Given the description of an element on the screen output the (x, y) to click on. 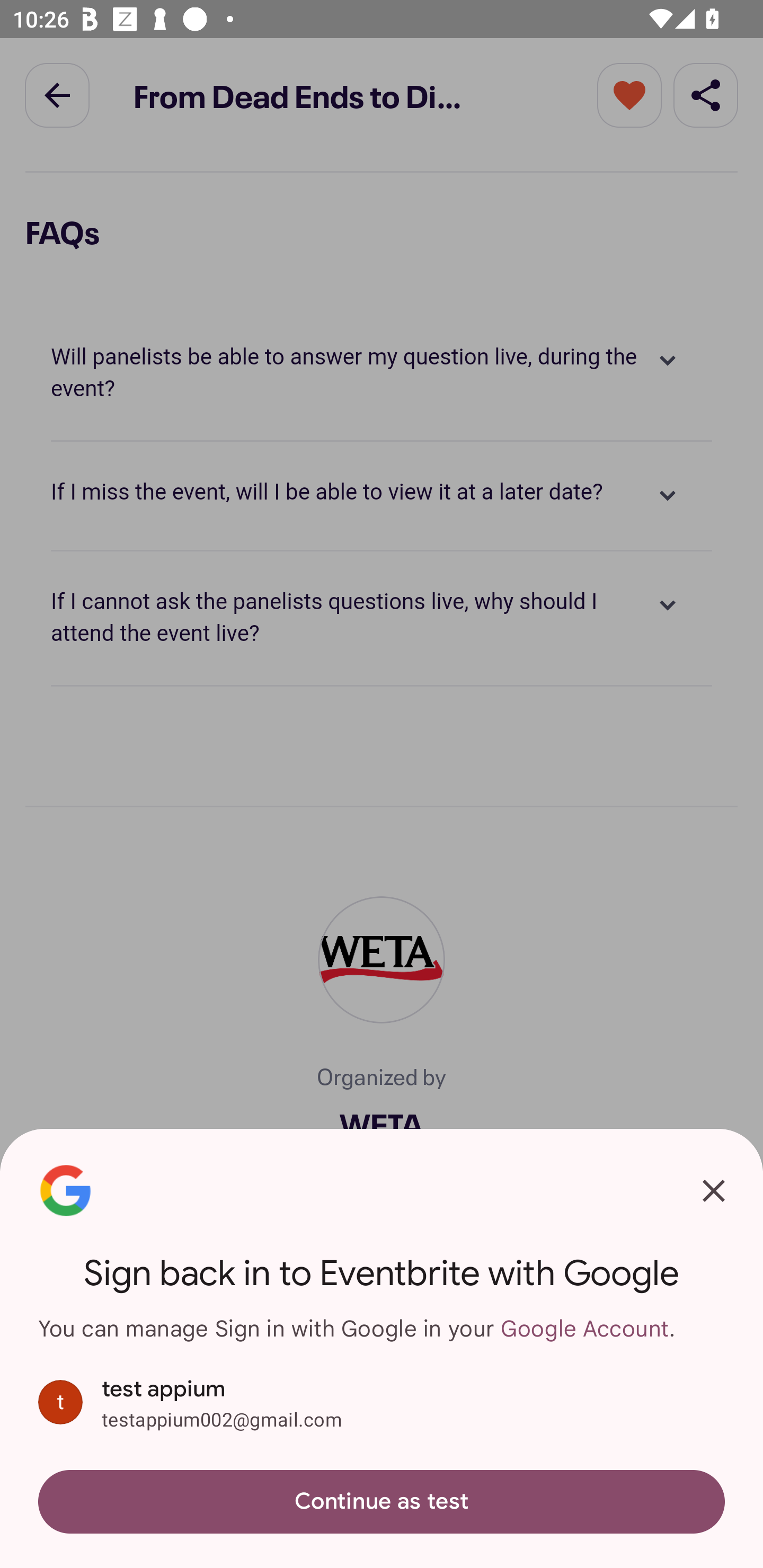
Cancel (713, 1190)
Continue as test (381, 1500)
